Given the description of an element on the screen output the (x, y) to click on. 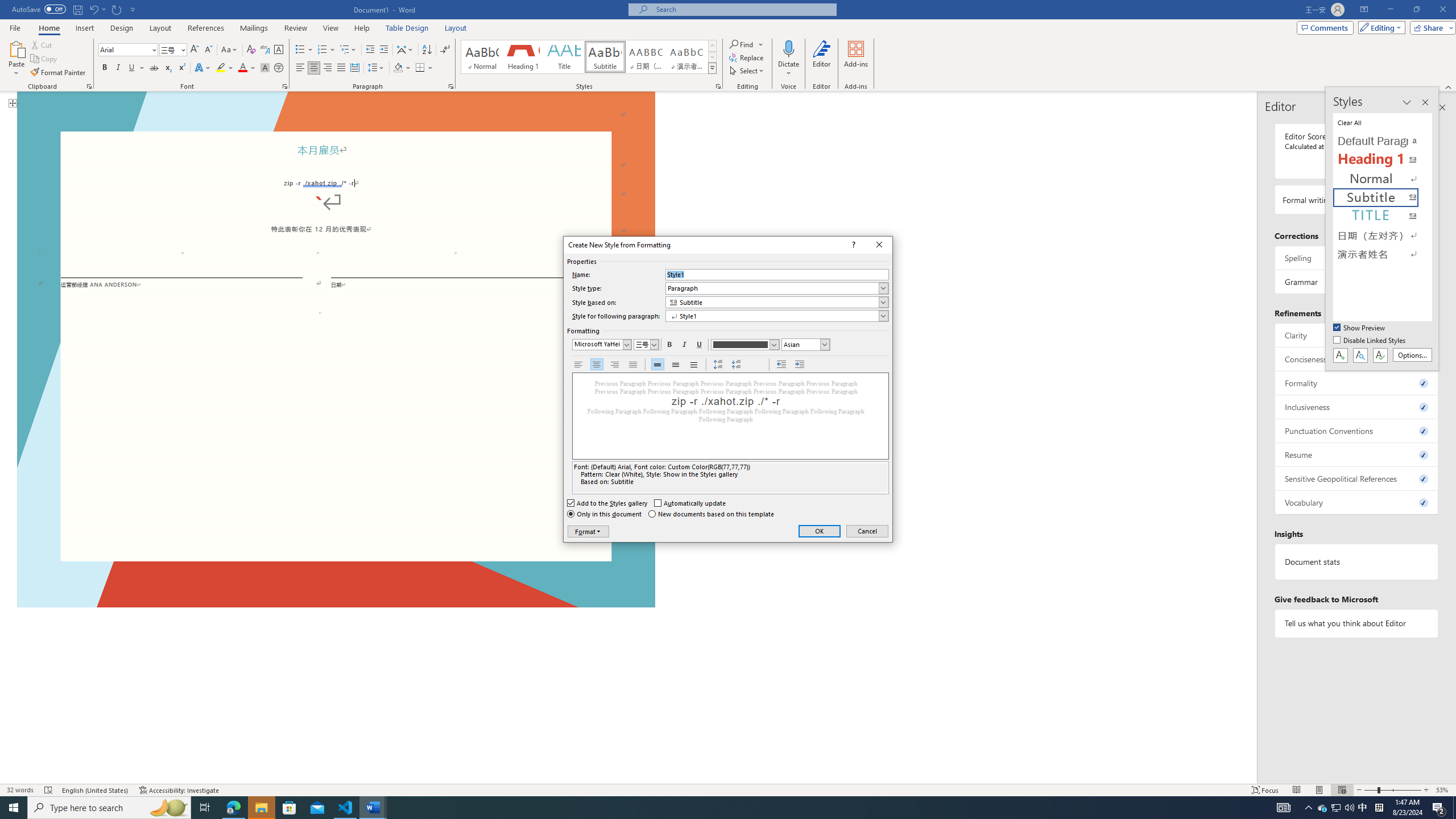
Class: NetUIButton (1380, 355)
Increase Paragraph Spacing (718, 364)
Single Spacing (656, 364)
Zoom 53% (1443, 790)
Clarity, 0 issues. Press space or enter to review items. (1356, 335)
Style based on: (777, 301)
Cancel (867, 531)
Automatically update (690, 502)
